Given the description of an element on the screen output the (x, y) to click on. 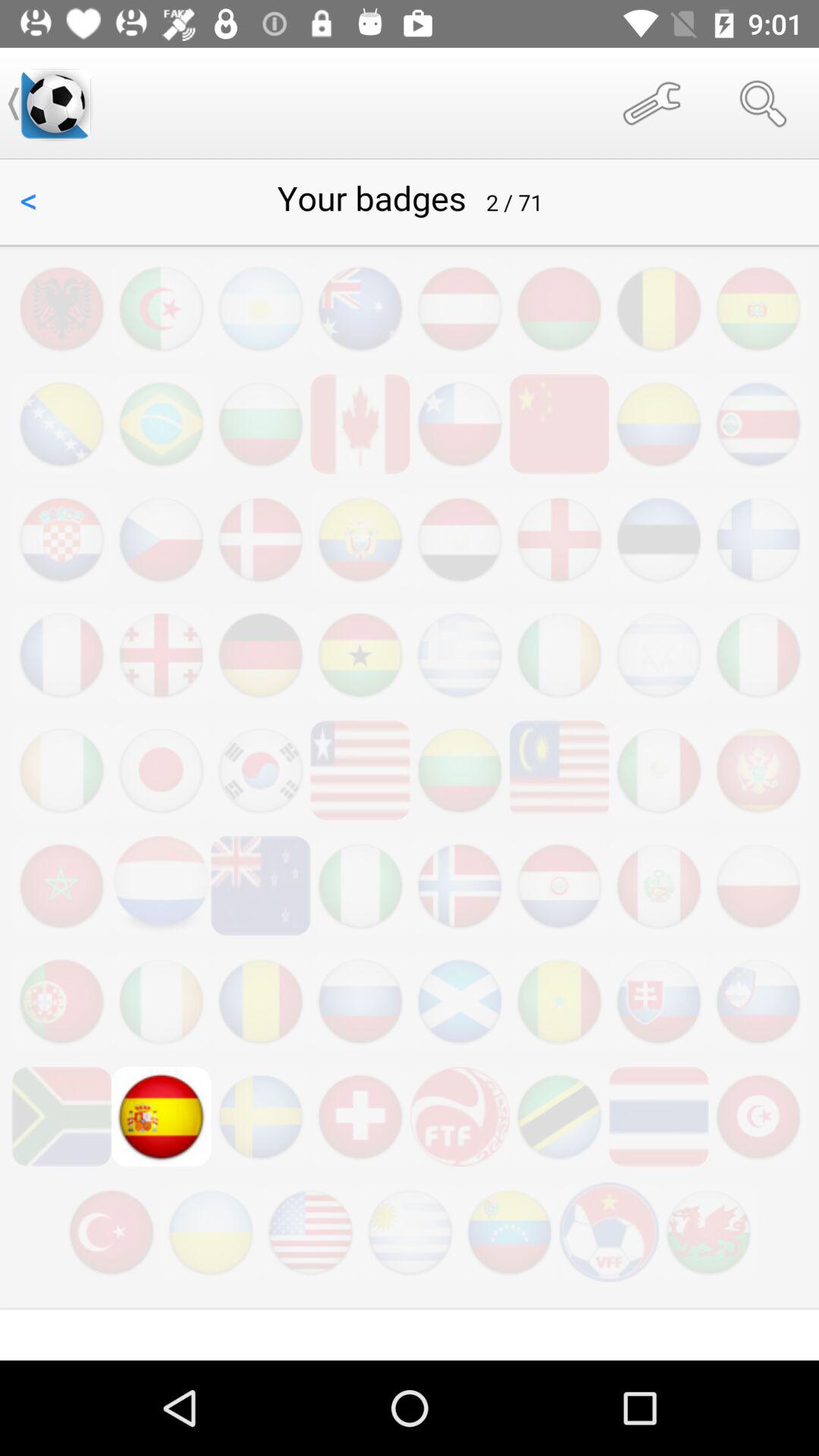
return to choice another badge (409, 759)
